Given the description of an element on the screen output the (x, y) to click on. 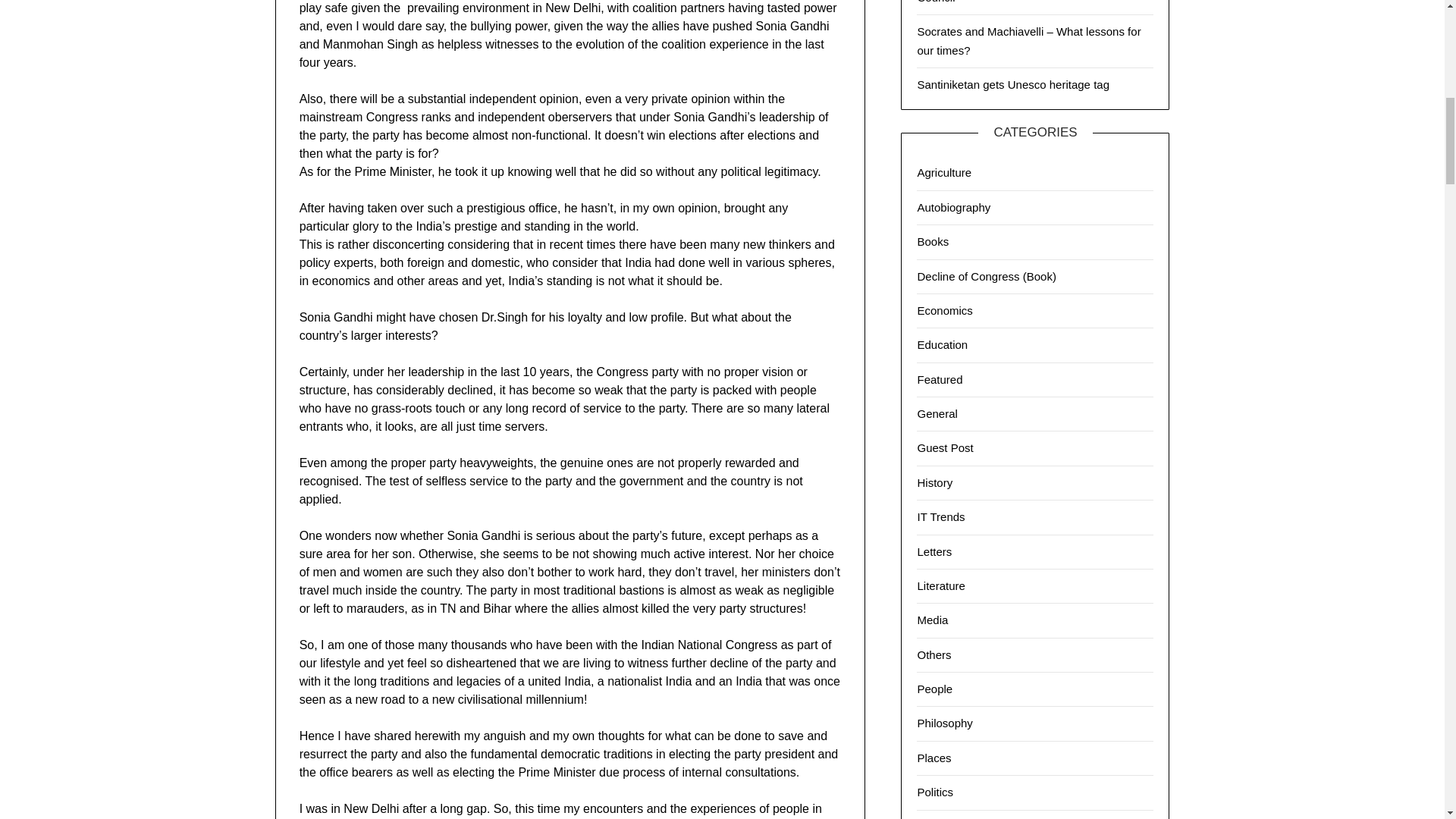
Santiniketan gets Unesco heritage tag (1013, 83)
Agriculture (944, 172)
Letters (934, 550)
Philosophy (944, 722)
People (934, 688)
IT Trends (940, 516)
Featured (939, 379)
Books (933, 241)
Others (933, 654)
Guest Post (944, 447)
